Given the description of an element on the screen output the (x, y) to click on. 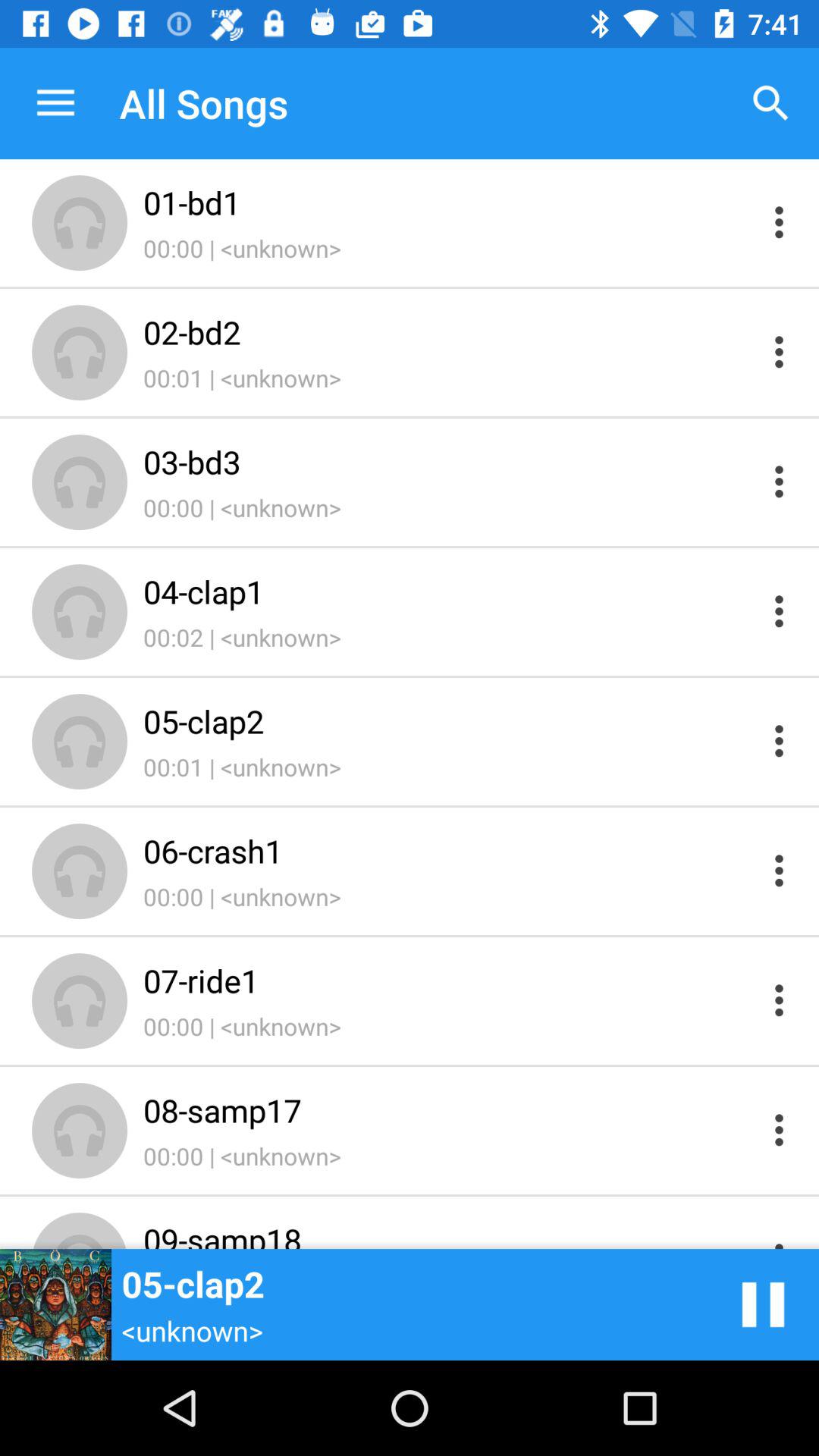
open song options menu (779, 481)
